Given the description of an element on the screen output the (x, y) to click on. 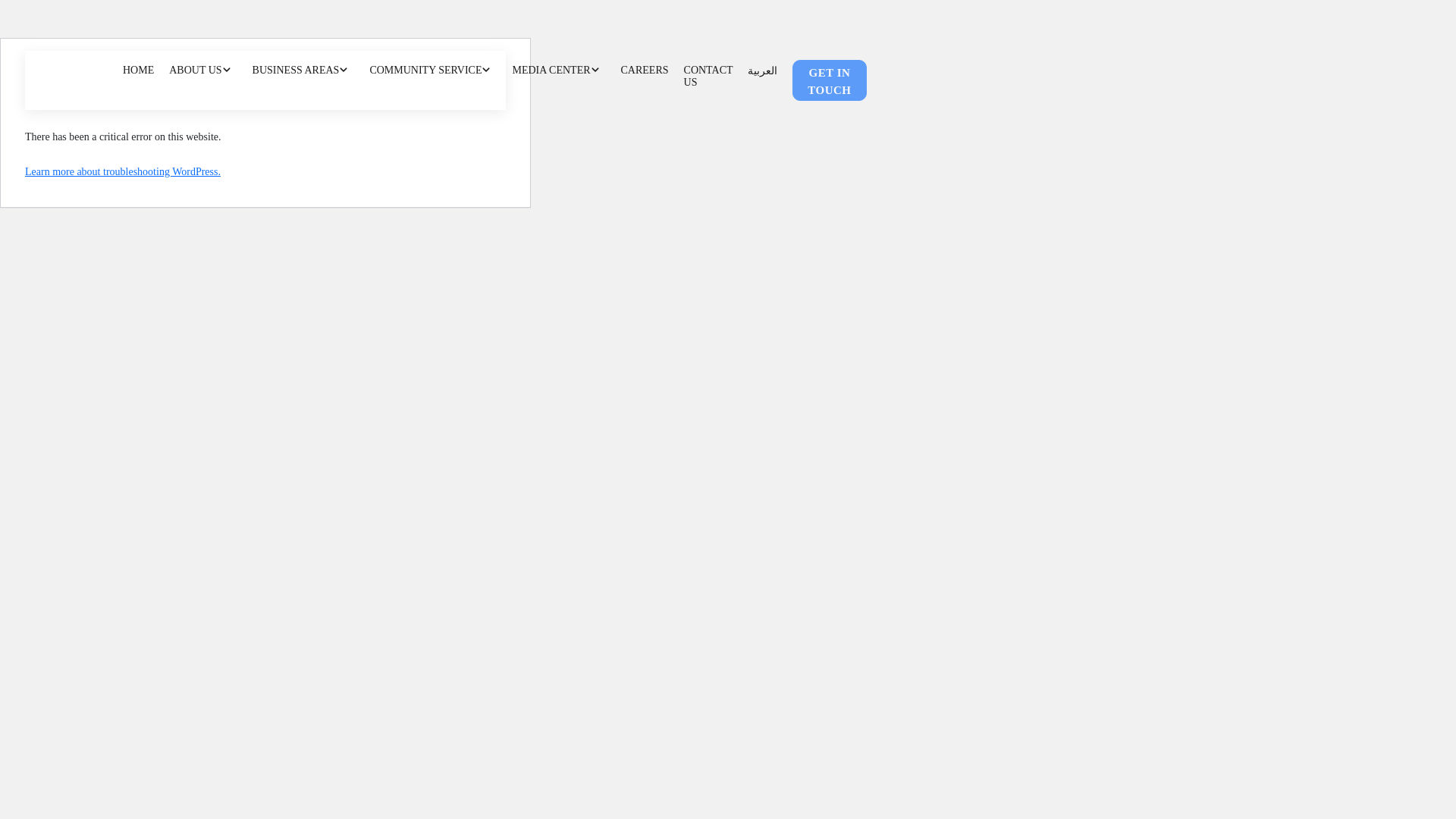
MEDIA CENTER (557, 70)
HOME (141, 70)
BUSINESS AREAS (303, 70)
CONTACT US (709, 76)
COMMUNITY SERVICE (432, 70)
ABOUT US (202, 70)
CAREERS (644, 70)
